Given the description of an element on the screen output the (x, y) to click on. 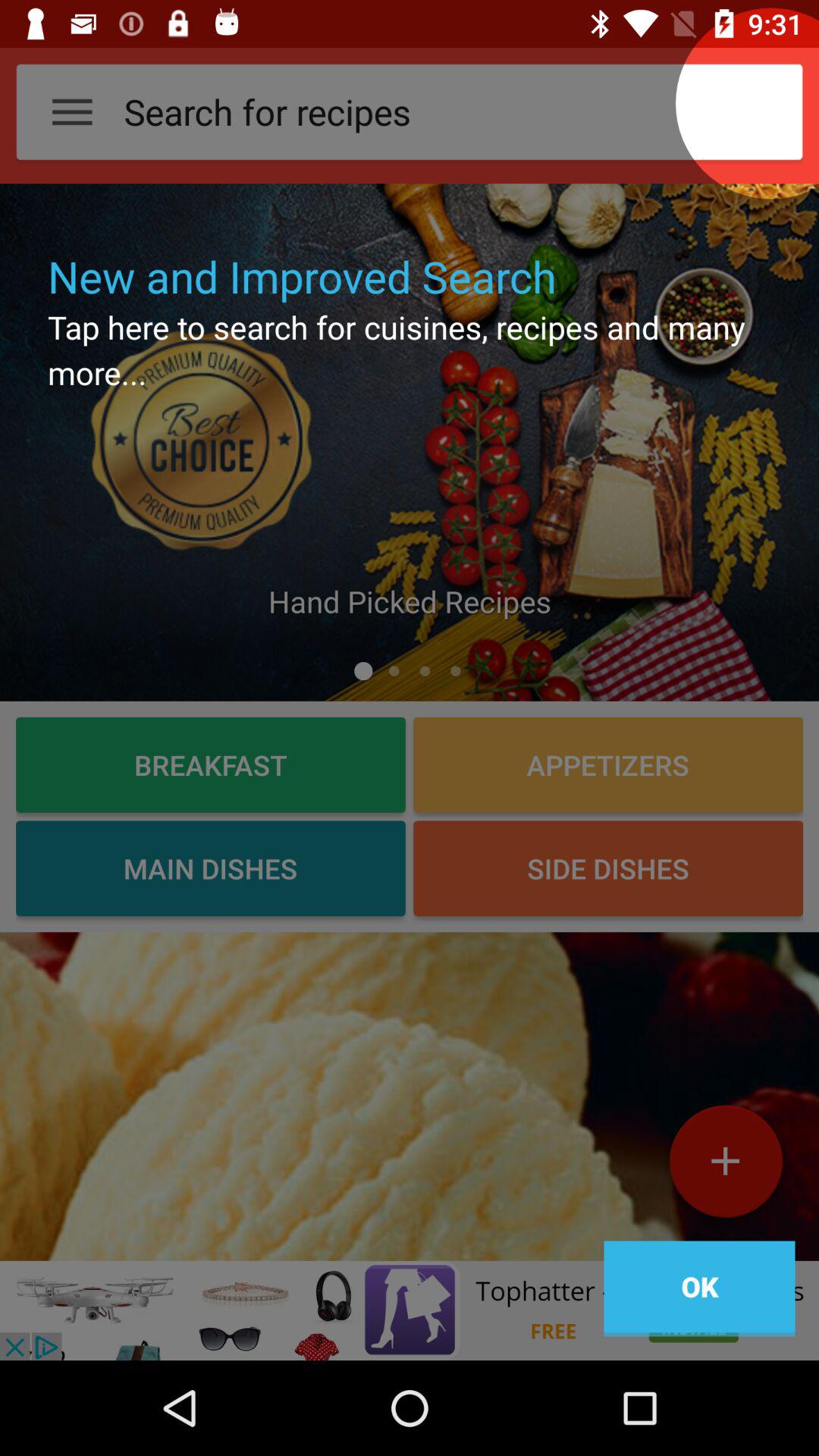
advertisement recipe (409, 1096)
